Given the description of an element on the screen output the (x, y) to click on. 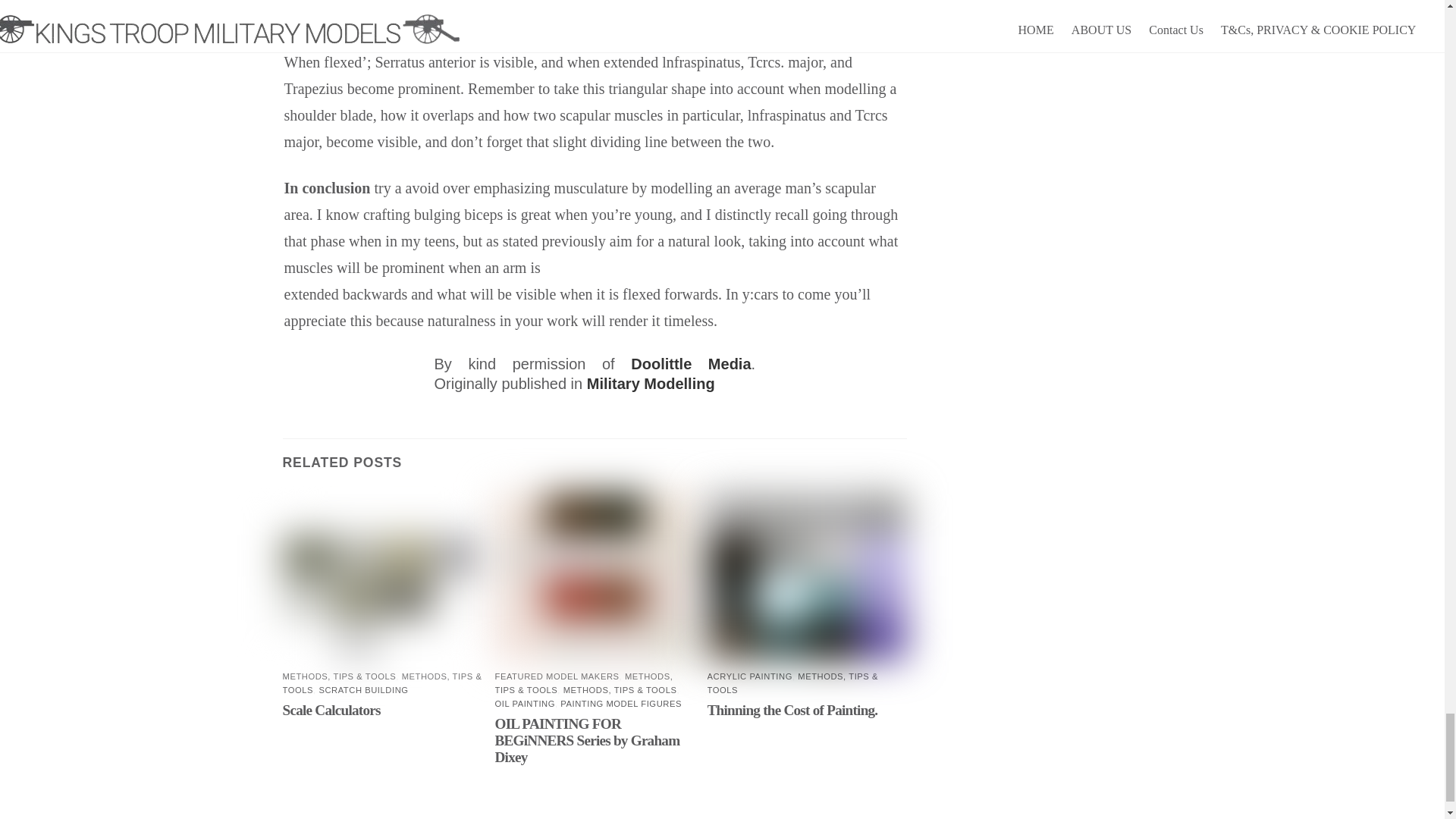
OIL PAINTING (524, 703)
Thinning the Cost of Painting. (792, 709)
Slide1 (381, 576)
SCRATCH BUILDING (362, 689)
PAINTING MODEL FIGURES (620, 703)
FEATURED MODEL MAKERS (557, 675)
OIL PAINTING FOR BEGiNNERS Series by Graham Dixey (587, 739)
Scale Calculators (331, 709)
ACRYLIC PAINTING (749, 675)
Military Modelling (650, 383)
Doolittle Media (690, 363)
